Given the description of an element on the screen output the (x, y) to click on. 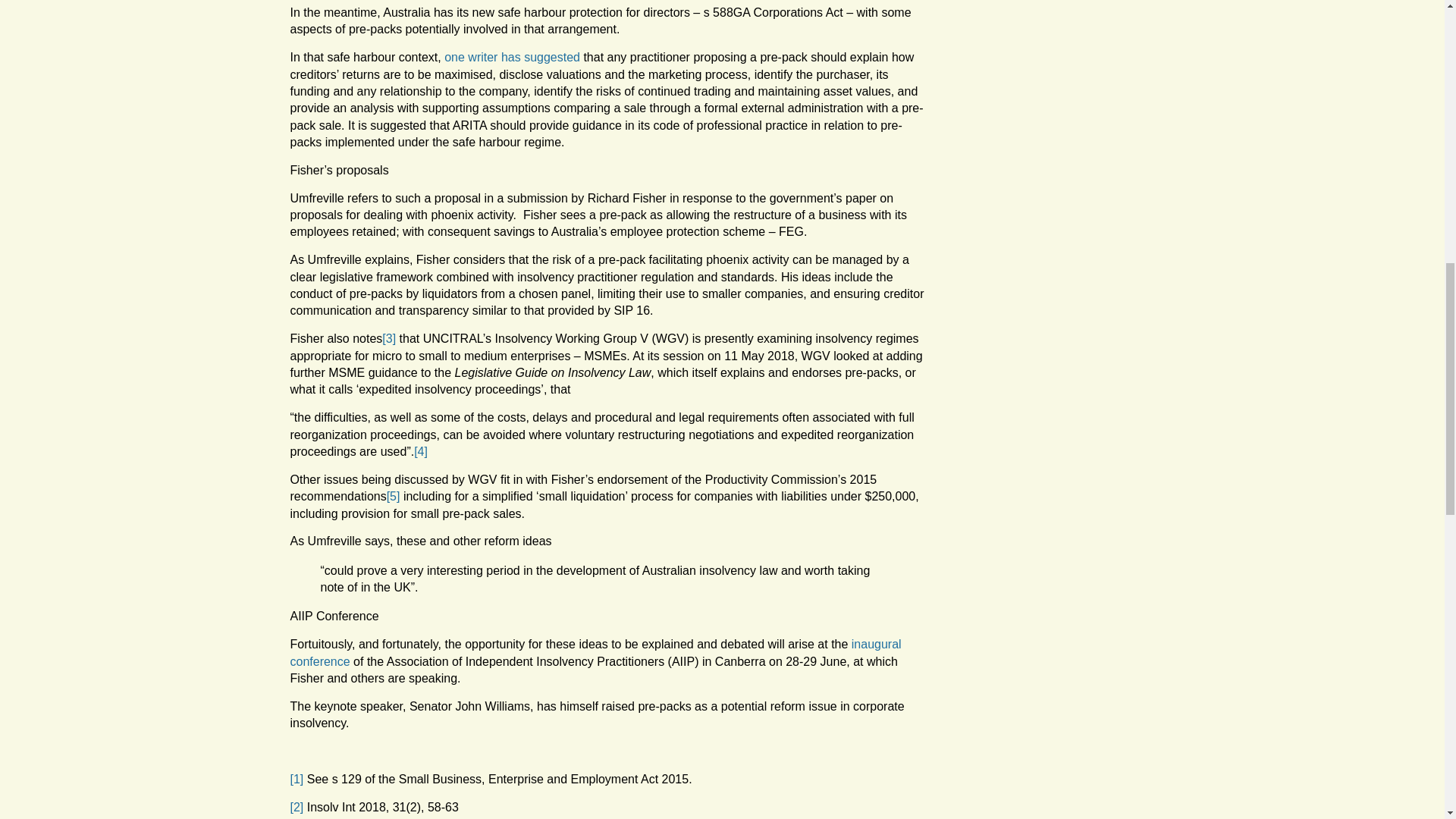
one writer has suggested (511, 56)
inaugural conference (595, 652)
